Given the description of an element on the screen output the (x, y) to click on. 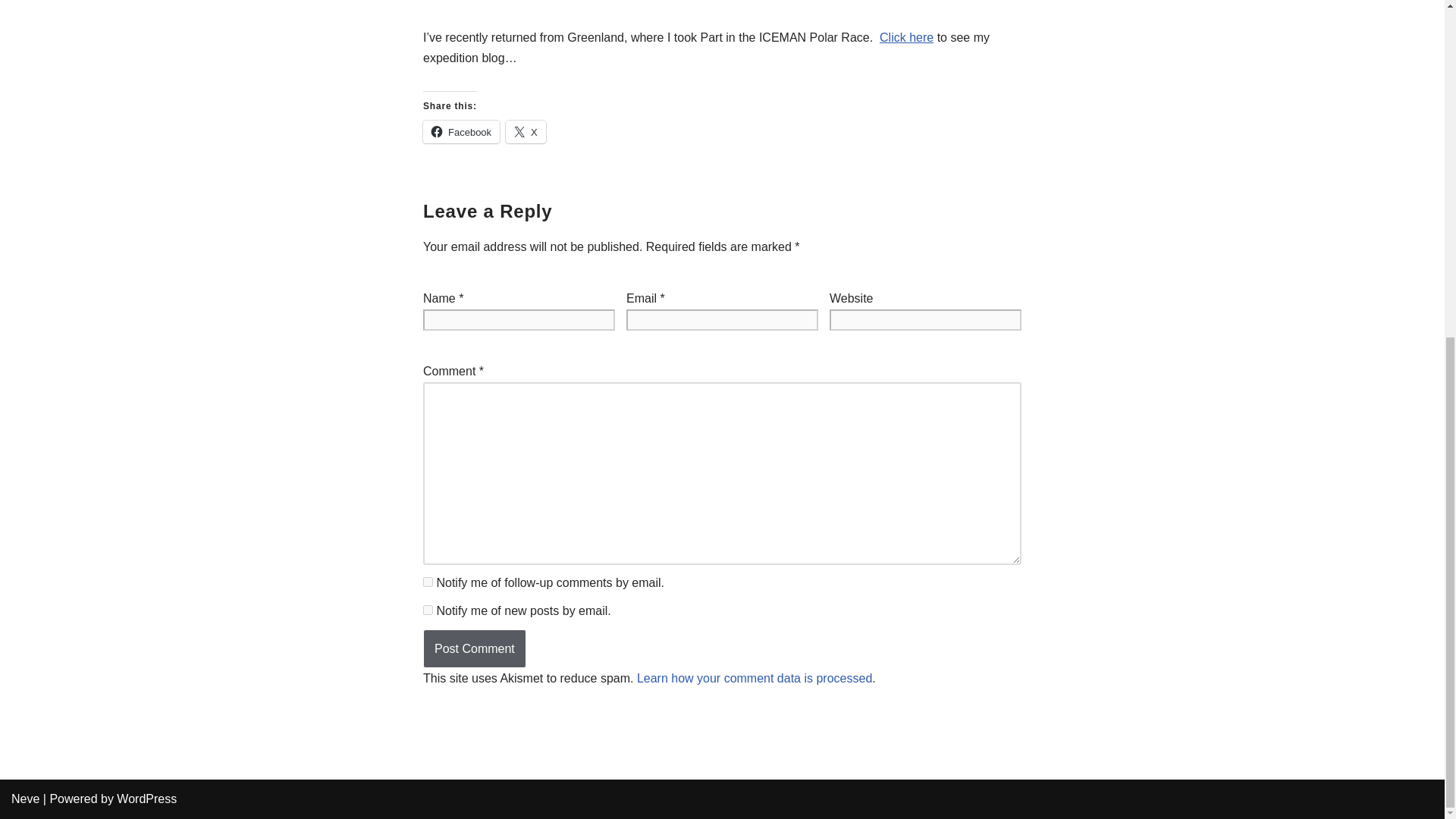
Click to share on Facebook (461, 131)
Click here (906, 37)
subscribe (427, 610)
Learn how your comment data is processed (754, 677)
X (525, 131)
Neve (25, 798)
Post Comment (474, 649)
WordPress (146, 798)
Facebook (461, 131)
Click to share on X (525, 131)
